Given the description of an element on the screen output the (x, y) to click on. 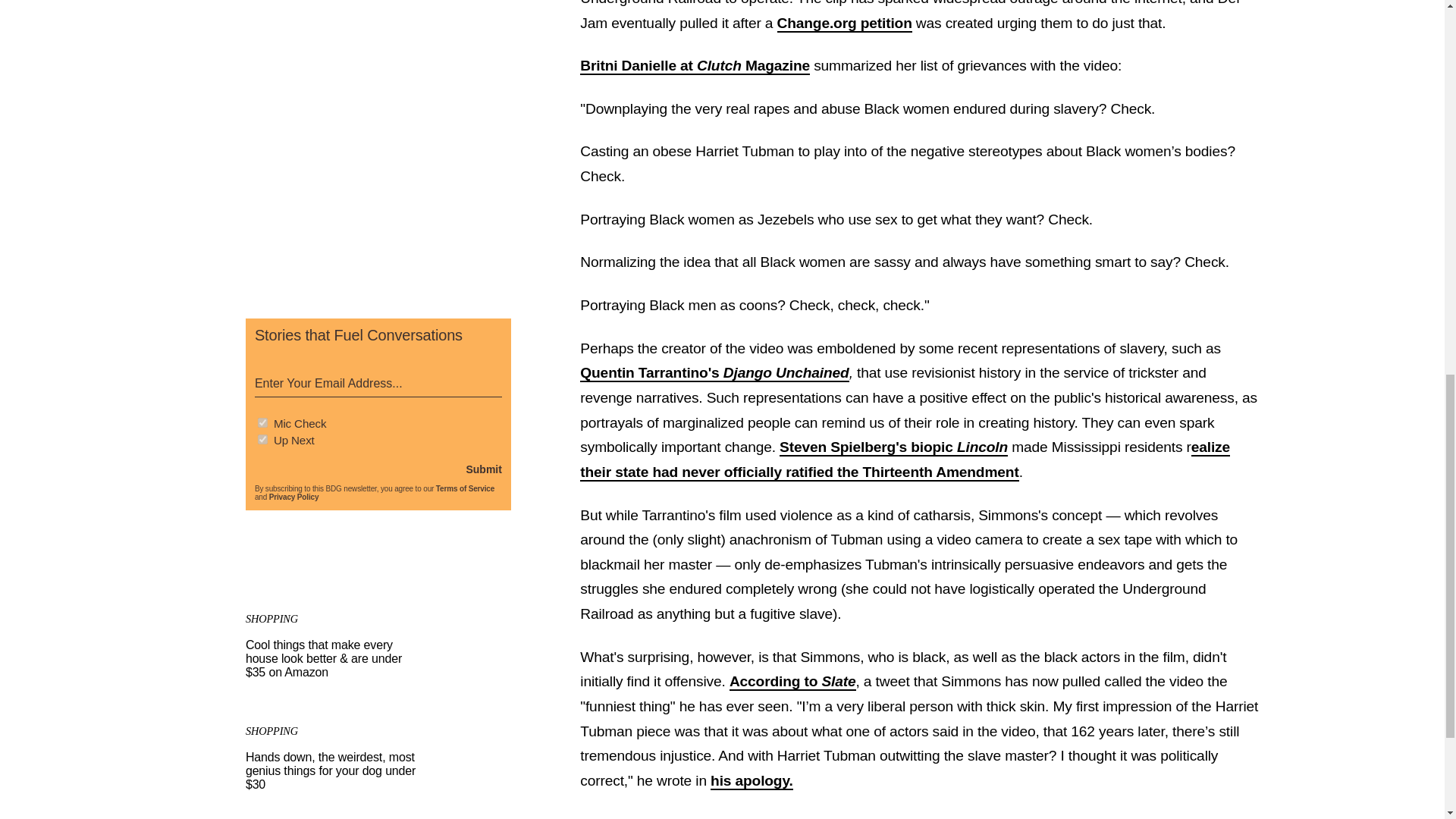
Submit (482, 469)
Magazine (775, 66)
Quentin Tarrantino's (650, 373)
Change.org petition (844, 23)
Britni Danielle at (638, 66)
Django Unchained (785, 373)
Terms of Service (465, 488)
Lincoln (981, 447)
his apology. (751, 781)
According to (775, 682)
